Given the description of an element on the screen output the (x, y) to click on. 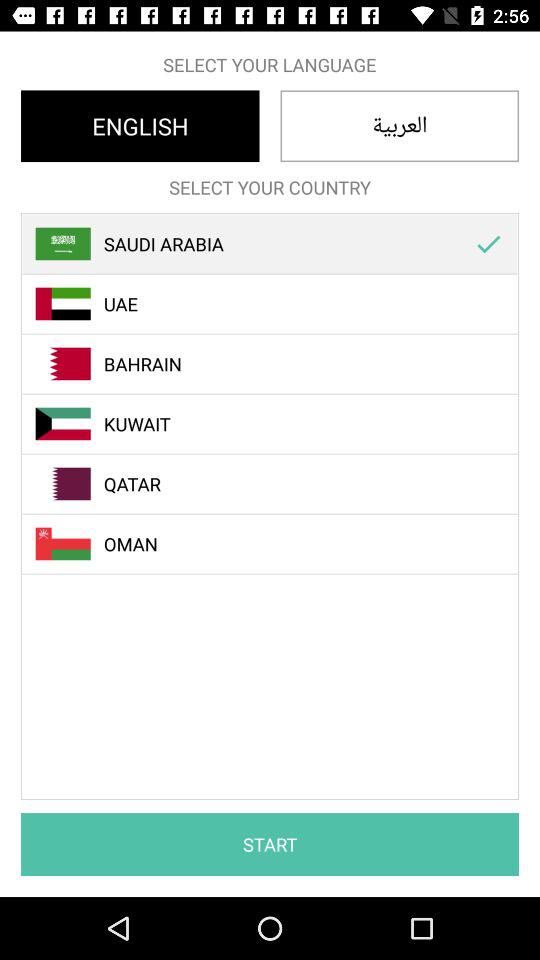
press the icon above the start item (488, 243)
